Given the description of an element on the screen output the (x, y) to click on. 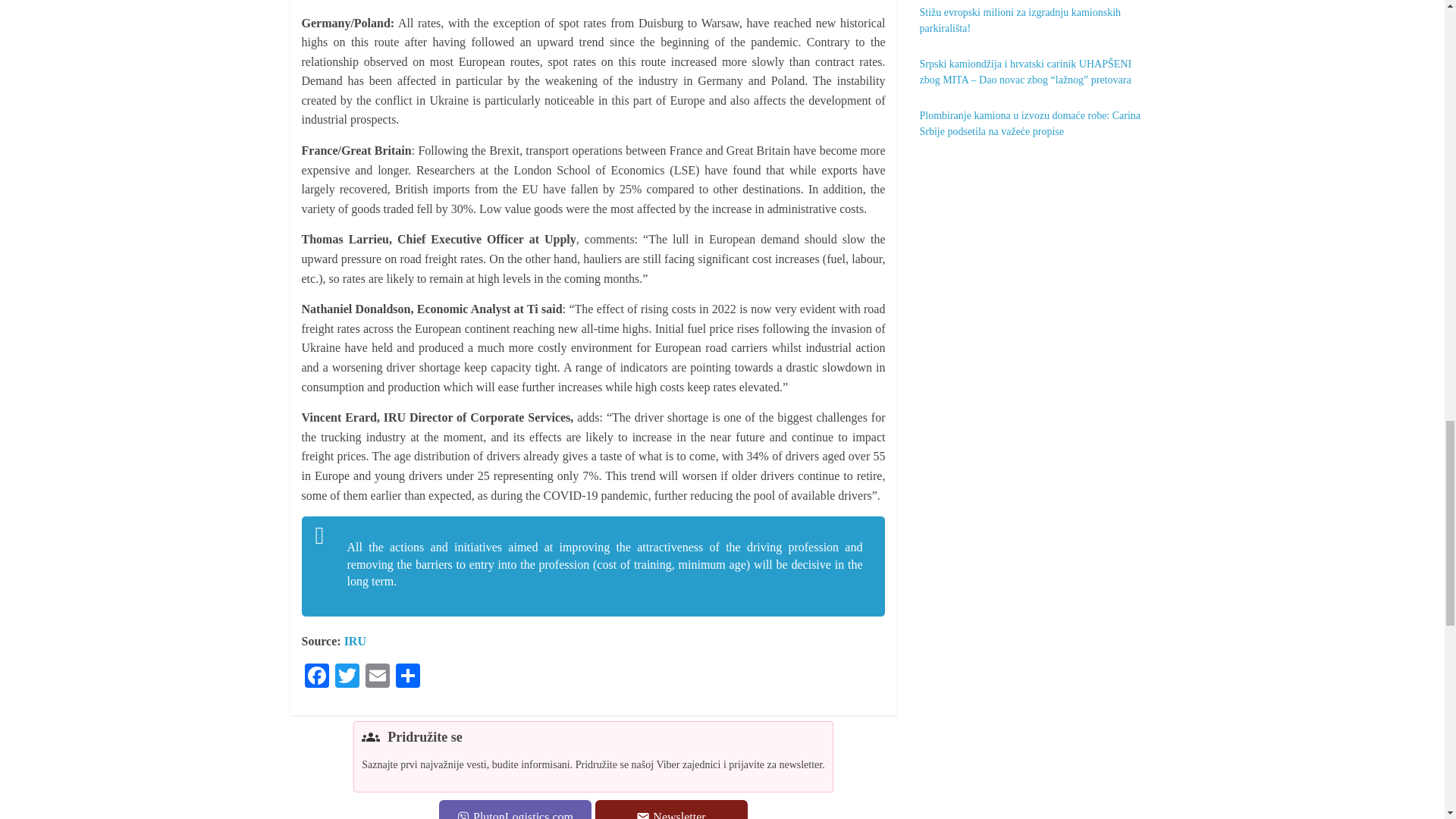
Twitter (346, 677)
Facebook (316, 677)
Email (377, 677)
